Given the description of an element on the screen output the (x, y) to click on. 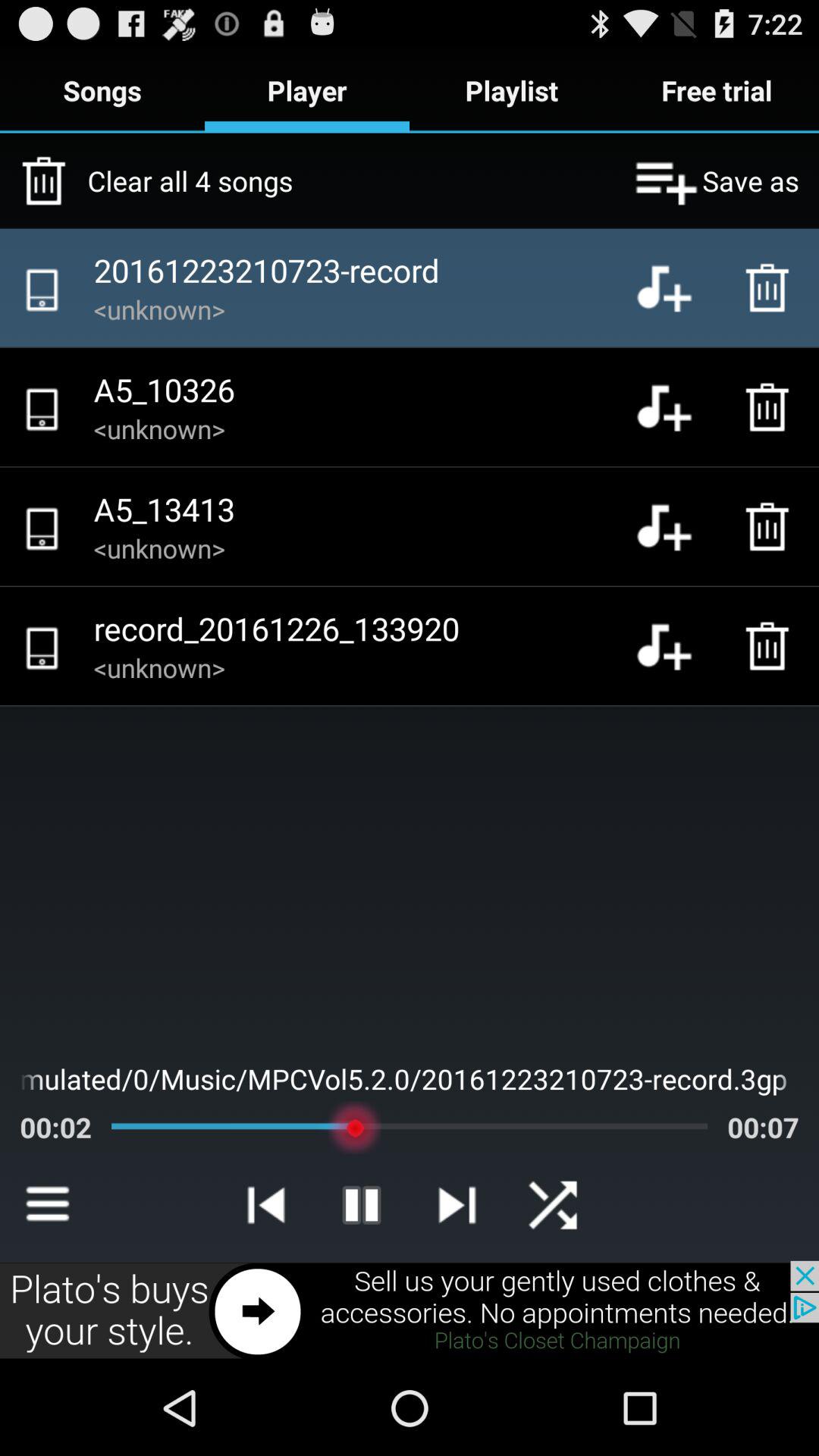
select delete option (771, 407)
